Given the description of an element on the screen output the (x, y) to click on. 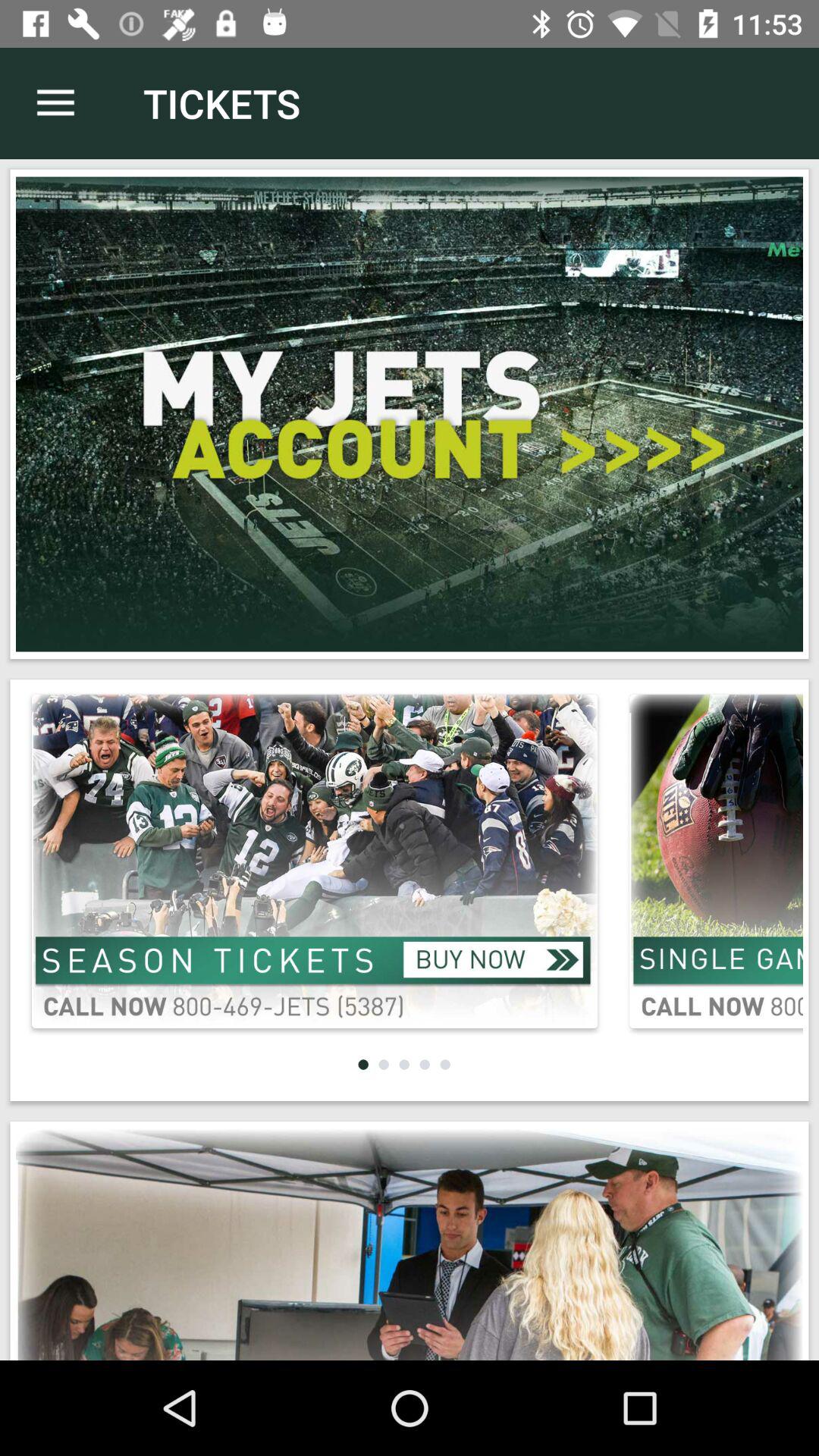
tap item next to tickets (55, 103)
